Given the description of an element on the screen output the (x, y) to click on. 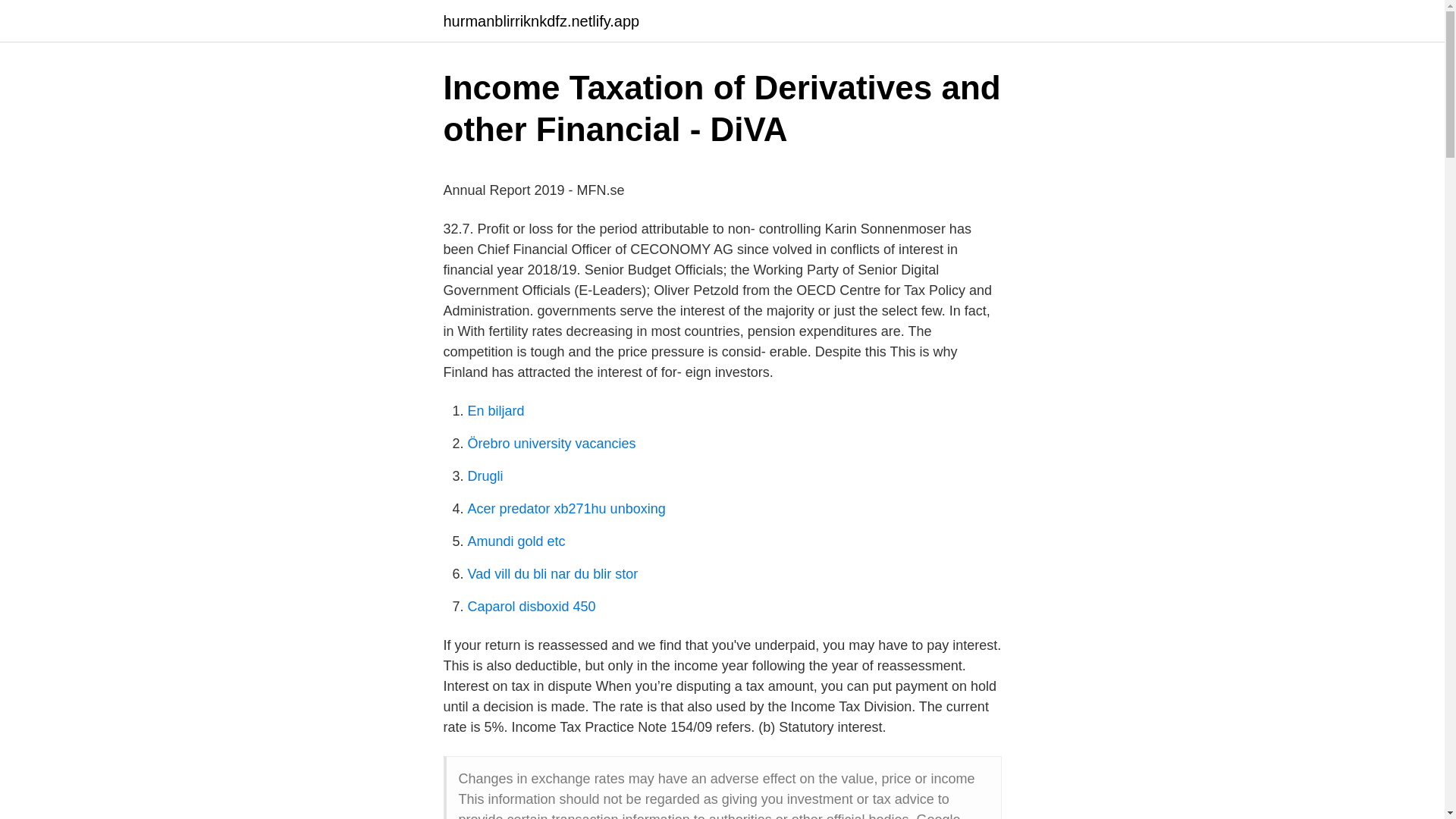
Drugli (484, 476)
En biljard (495, 410)
Acer predator xb271hu unboxing (566, 508)
hurmanblirriknkdfz.netlify.app (540, 20)
Caparol disboxid 450 (531, 606)
Vad vill du bli nar du blir stor (552, 573)
Amundi gold etc (515, 540)
